Given the description of an element on the screen output the (x, y) to click on. 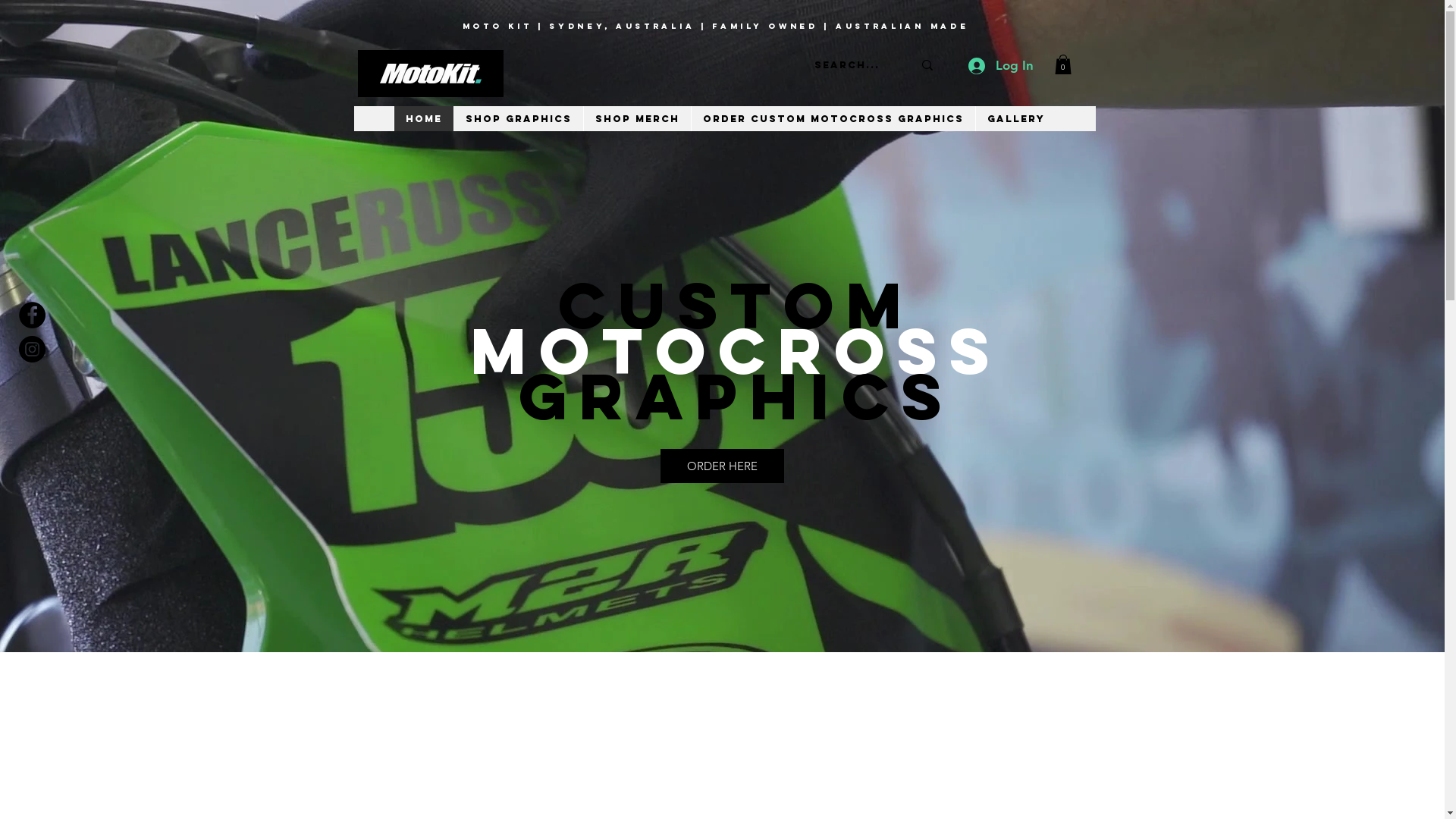
ORDER HERE Element type: text (721, 465)
0 Element type: text (1062, 64)
Shop Merch Element type: text (636, 118)
Order Custom Motocross Graphics Element type: text (832, 118)
Gallery Element type: text (1015, 118)
Shop Graphics Element type: text (518, 118)
Home Element type: text (422, 118)
Log In Element type: text (999, 65)
